Given the description of an element on the screen output the (x, y) to click on. 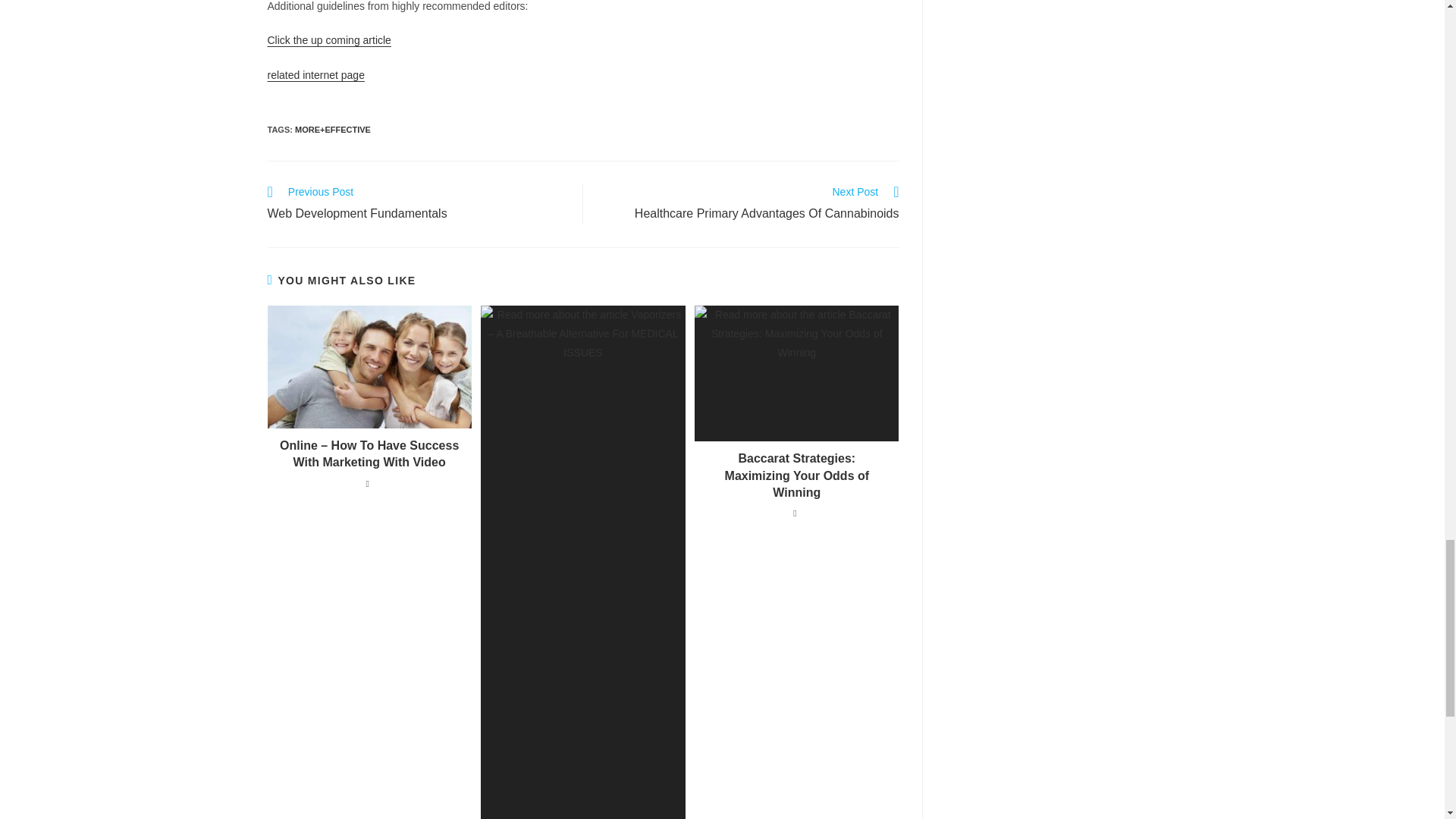
Baccarat Strategies: Maximizing Your Odds of Winning (796, 475)
Click the up coming article (328, 39)
related internet page (748, 204)
